Given the description of an element on the screen output the (x, y) to click on. 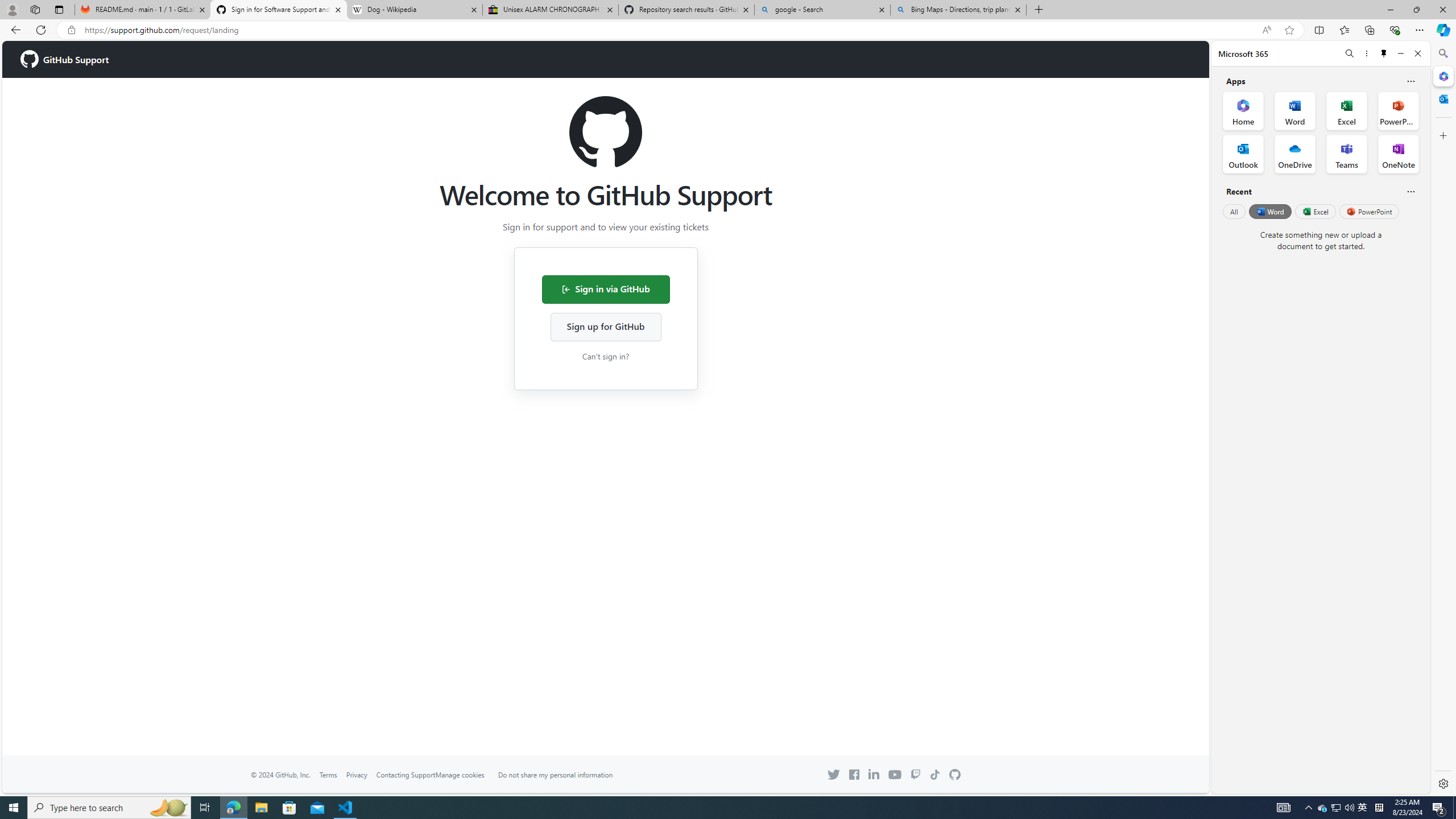
Twitter icon (833, 774)
Facebook icon (853, 774)
Teams Office App (1346, 154)
GitHub Support (64, 58)
Excel Office App (1346, 110)
Outlook Office App (1243, 154)
TikTok icon GitHub on TikTok (935, 774)
